Given the description of an element on the screen output the (x, y) to click on. 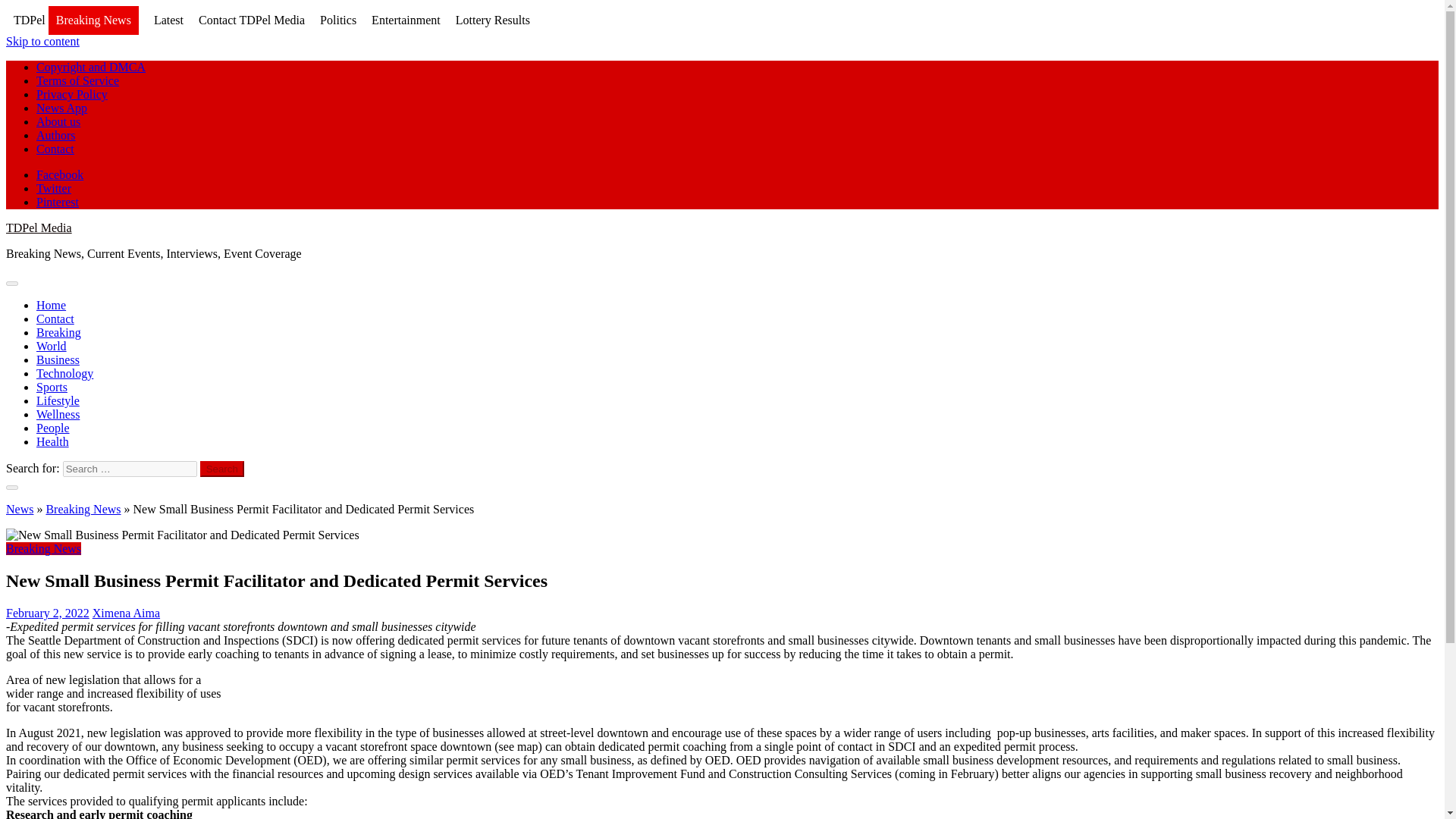
Skip to content (42, 41)
Breaking News (93, 20)
World (51, 345)
Ximena Aima (126, 612)
About us (58, 121)
Lottery Results (492, 19)
Search (222, 468)
Breaking News (43, 548)
Politics (338, 19)
Sports (51, 386)
Health (52, 440)
Business (58, 359)
Entertainment (406, 19)
TDPel (29, 19)
People (52, 427)
